Given the description of an element on the screen output the (x, y) to click on. 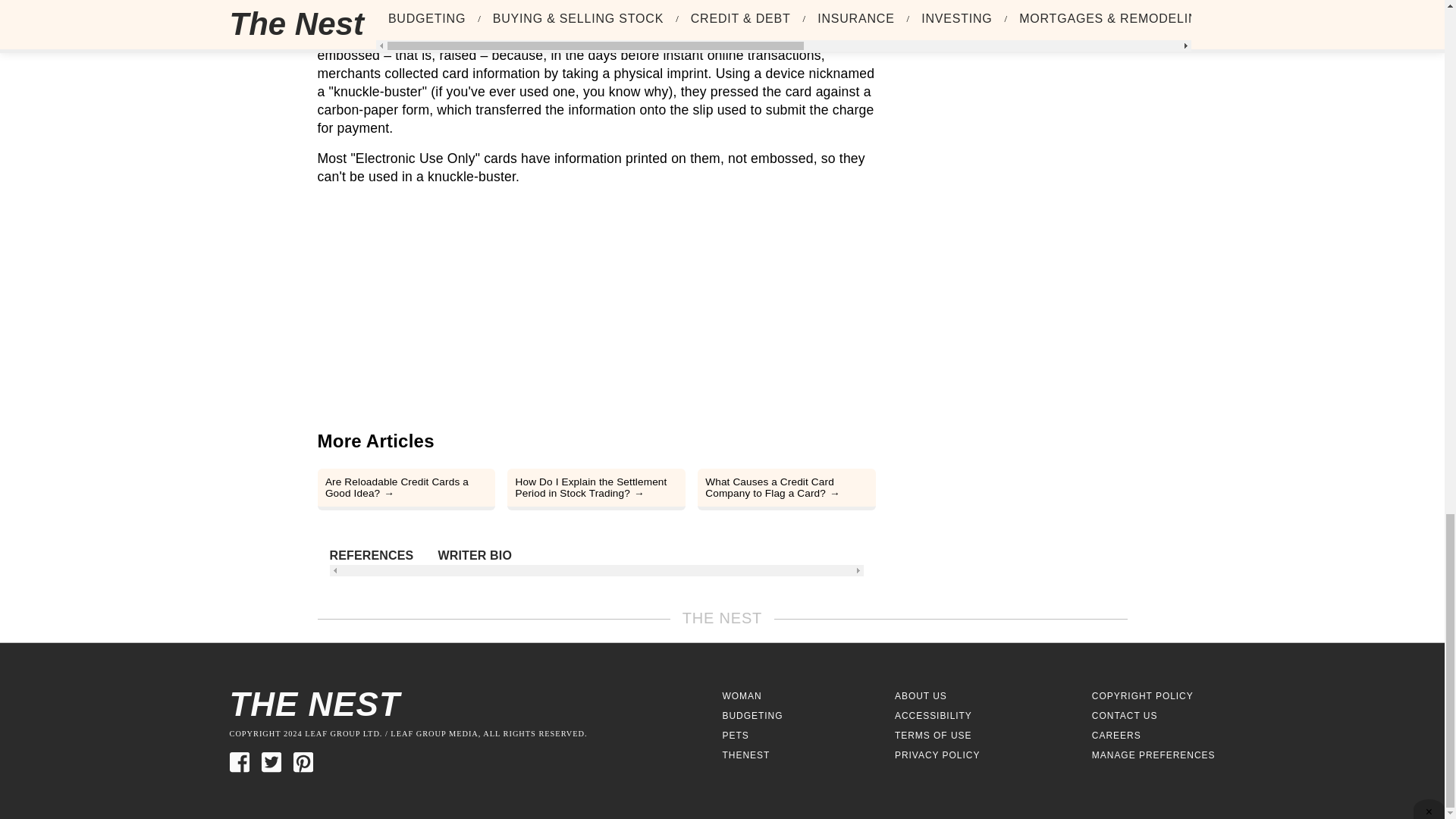
PRIVACY POLICY (937, 755)
WOMAN (741, 696)
COPYRIGHT POLICY (1142, 696)
TERMS OF USE (933, 735)
ACCESSIBILITY (933, 715)
BUDGETING (752, 715)
THE NEST (475, 704)
THENEST (746, 755)
ABOUT US (921, 696)
PETS (735, 735)
